Given the description of an element on the screen output the (x, y) to click on. 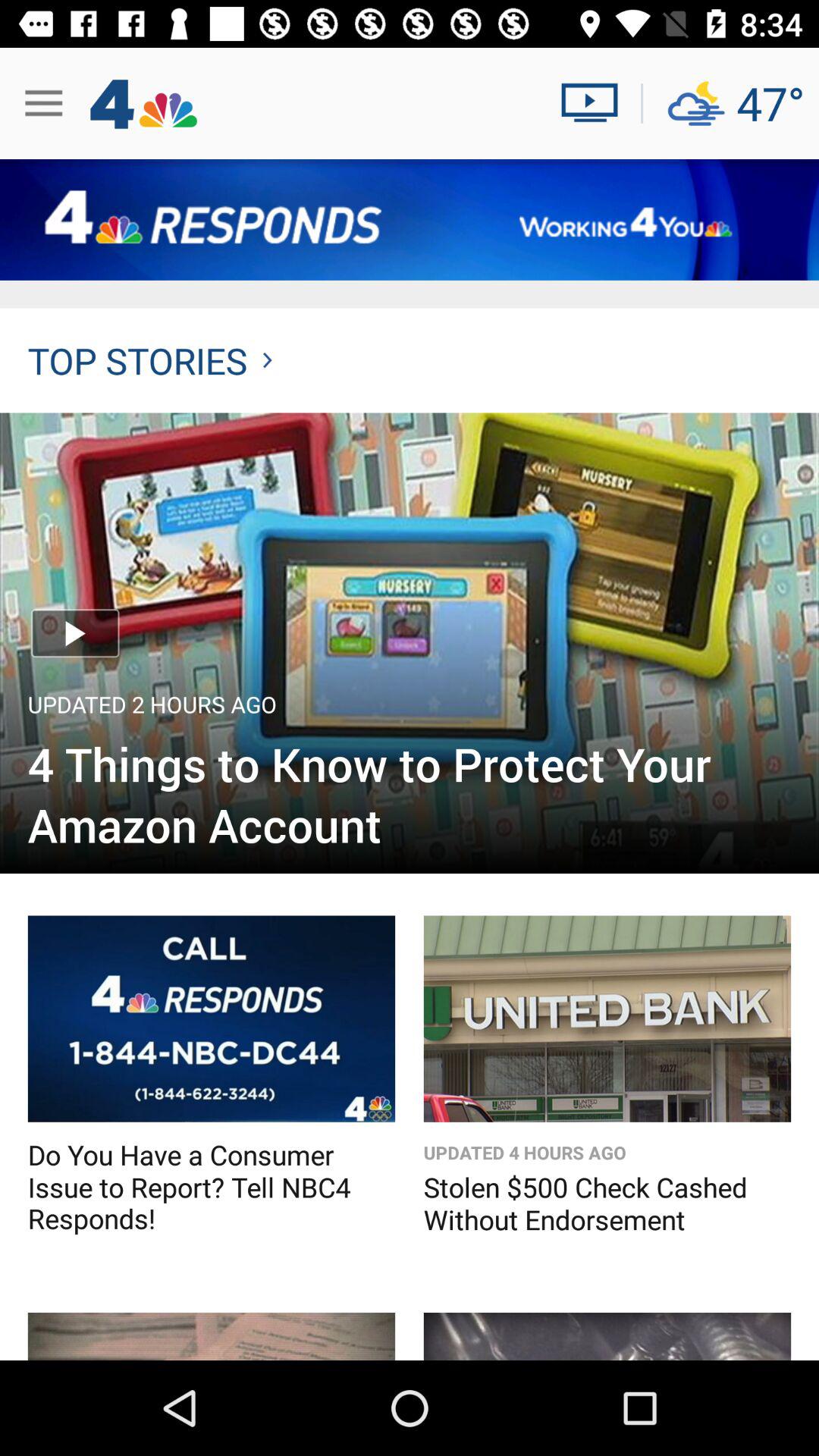
go to news story (211, 1336)
